Given the description of an element on the screen output the (x, y) to click on. 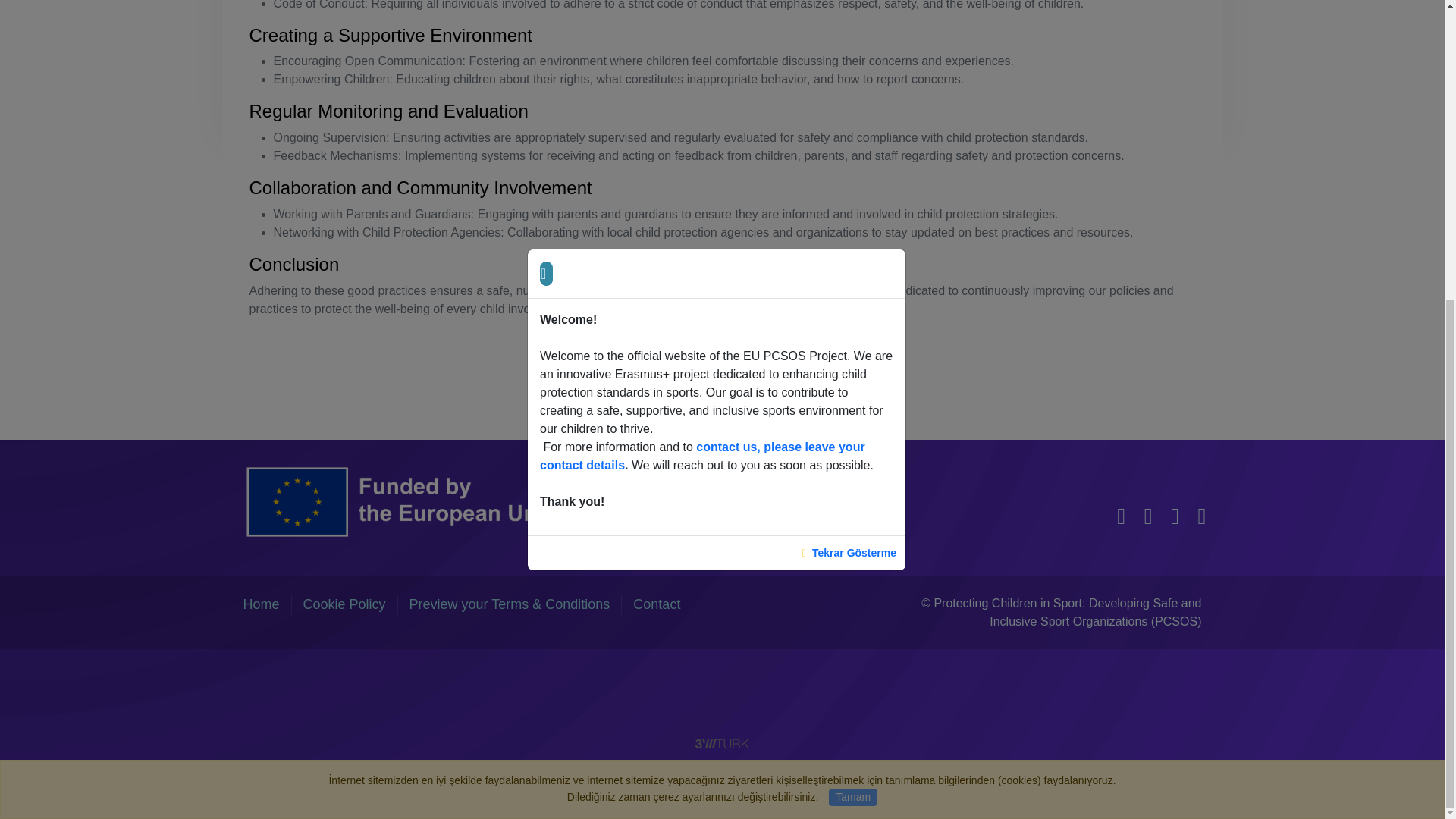
contact us, please leave your contact details (702, 2)
Tamam (852, 332)
Cookie Policy (343, 604)
Home (261, 604)
3WTURK CMS v8.4.0 (722, 742)
Contact (656, 604)
